Given the description of an element on the screen output the (x, y) to click on. 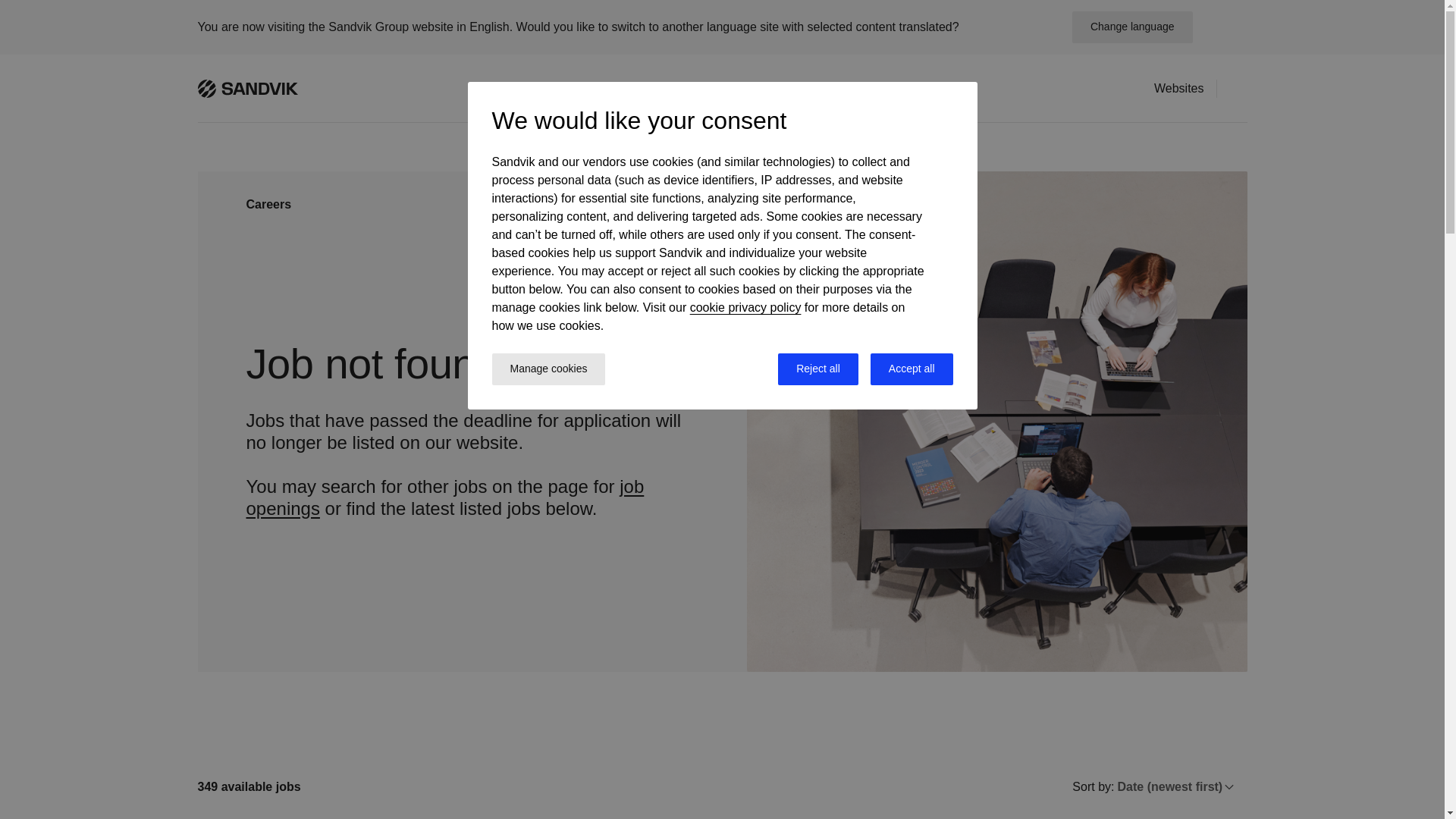
Websites (1179, 87)
Change language (1131, 27)
Careers (692, 87)
About us (926, 87)
job openings (444, 496)
Stories (860, 87)
Offerings (548, 87)
Investors (622, 87)
Search (1237, 87)
Close (1225, 26)
